Given the description of an element on the screen output the (x, y) to click on. 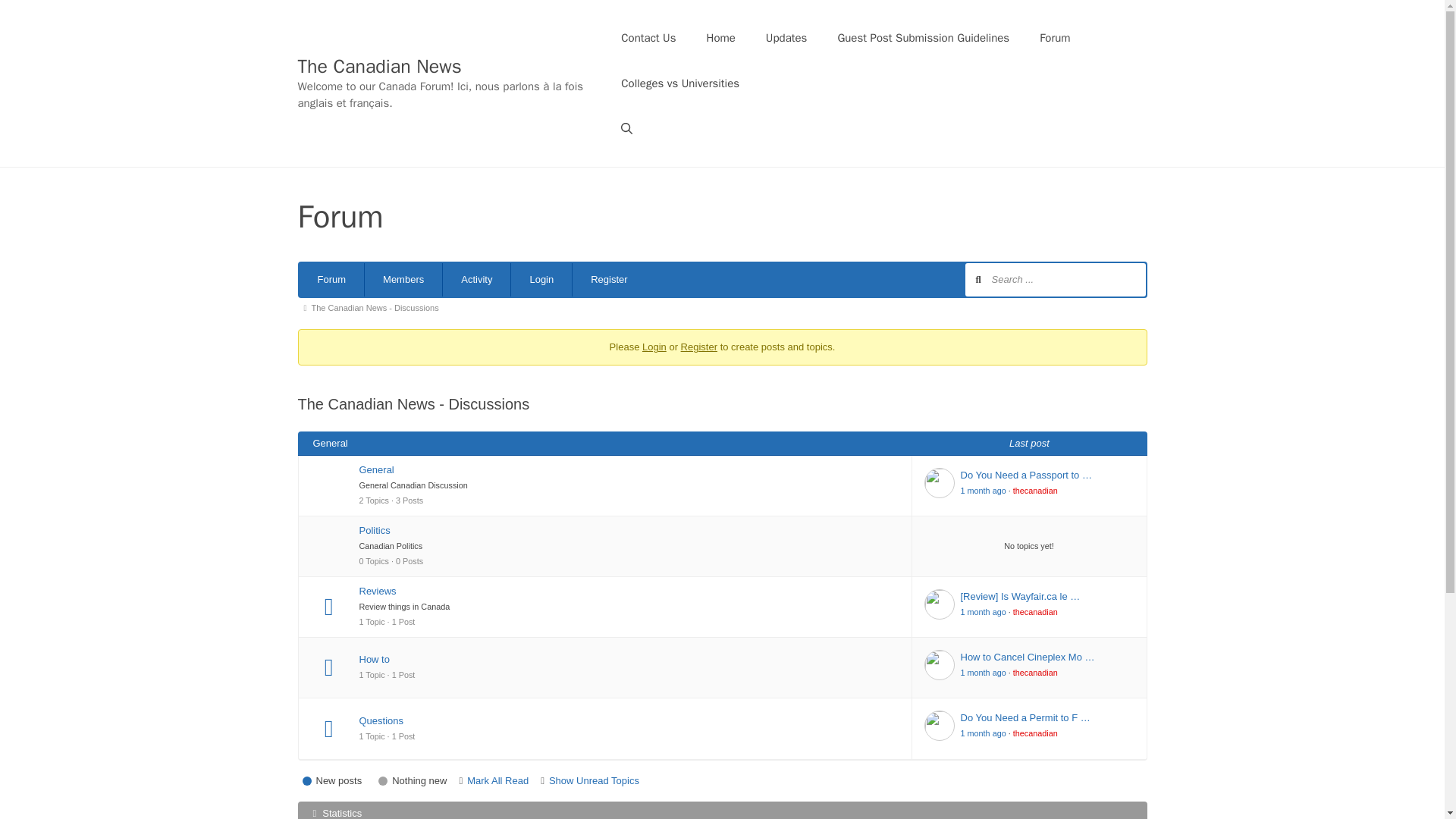
Register (699, 346)
Login (654, 346)
Activity (476, 279)
The Canadian News (379, 65)
Forum (331, 279)
How to (629, 659)
Reviews (629, 590)
Politics (629, 530)
Login (541, 279)
Guest Post Submission Guidelines (923, 37)
